Given the description of an element on the screen output the (x, y) to click on. 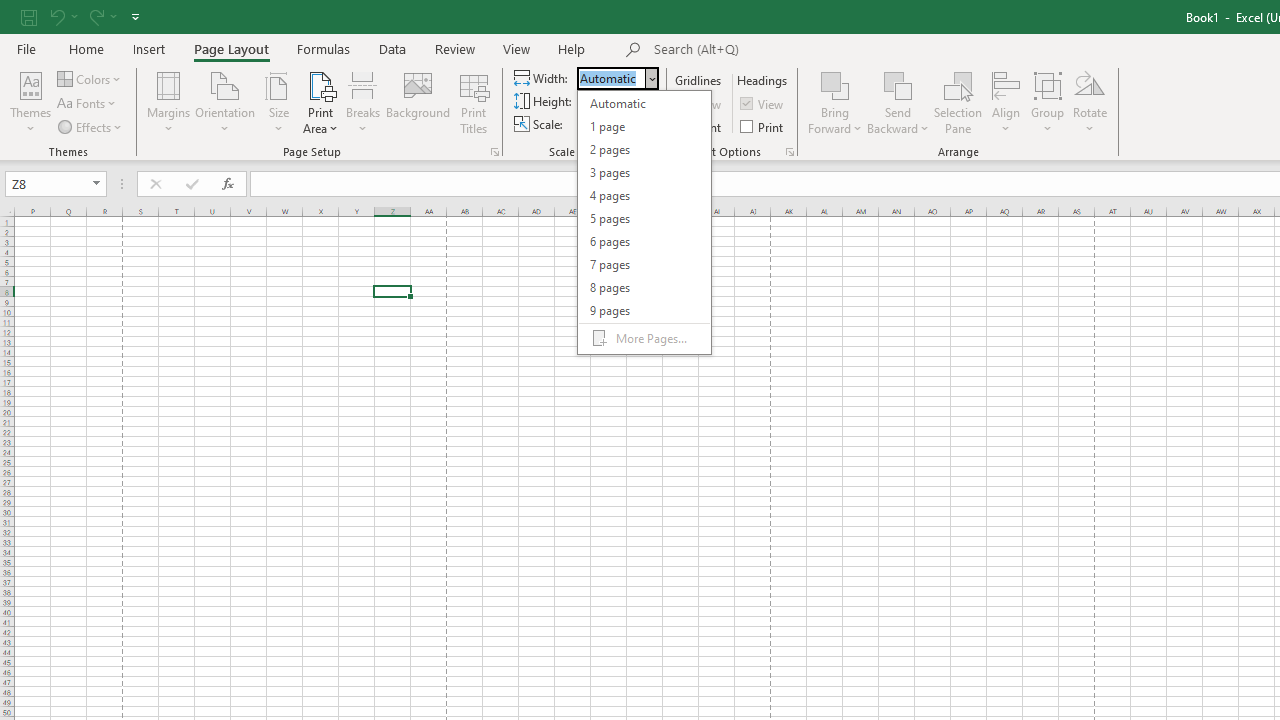
Breaks (362, 102)
9 pages (644, 309)
Width (618, 78)
Home (86, 48)
Print (763, 126)
7 pages (644, 263)
Review (454, 48)
Height (618, 101)
Send Backward (898, 102)
4 pages (644, 195)
Name Box (56, 183)
Background... (418, 102)
Fonts (87, 103)
2 pages (644, 149)
File Tab (26, 48)
